Given the description of an element on the screen output the (x, y) to click on. 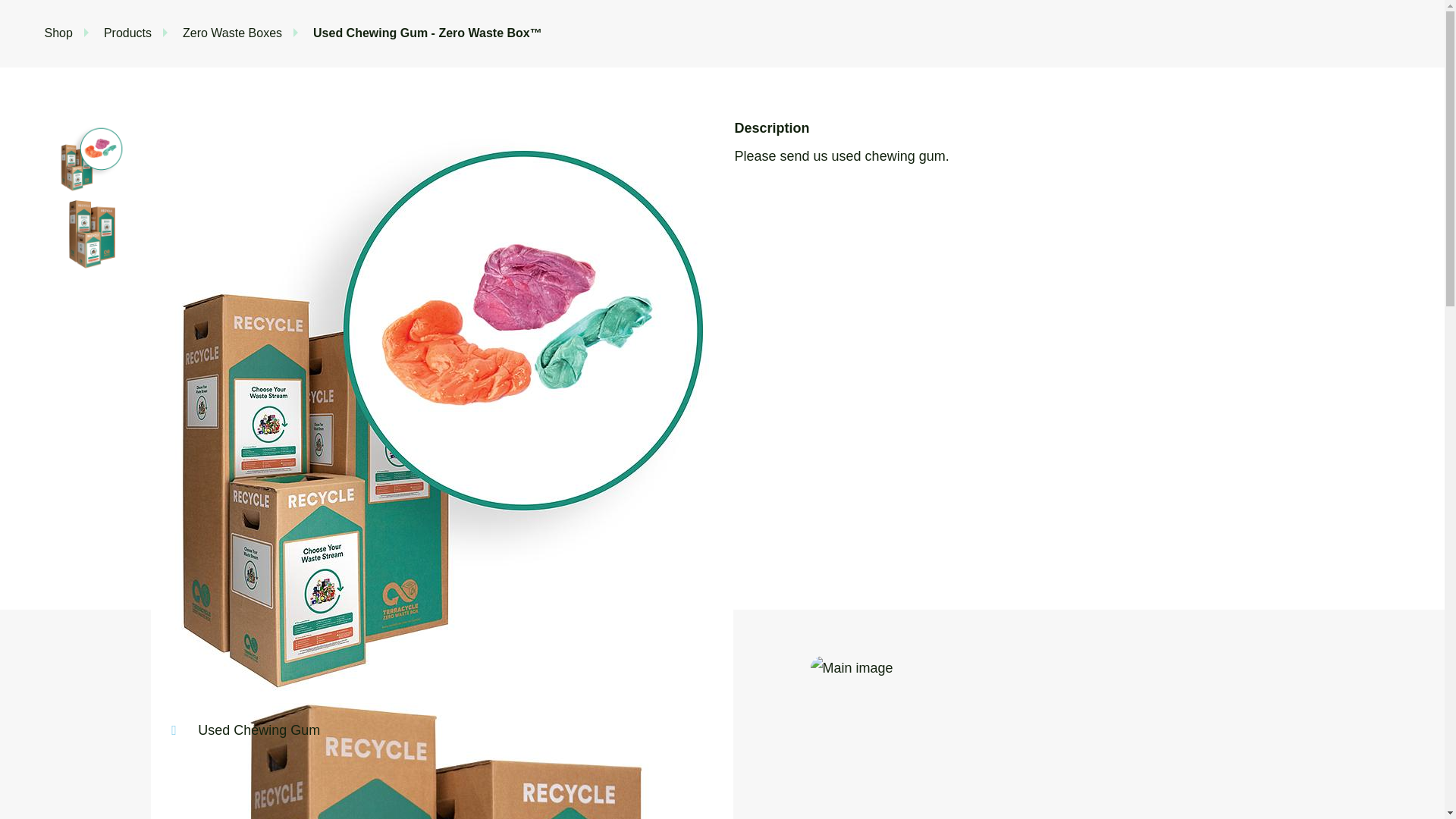
Zero Waste Boxes (232, 32)
Products (127, 32)
Shop (57, 32)
Used Chewing Gum (256, 730)
